Given the description of an element on the screen output the (x, y) to click on. 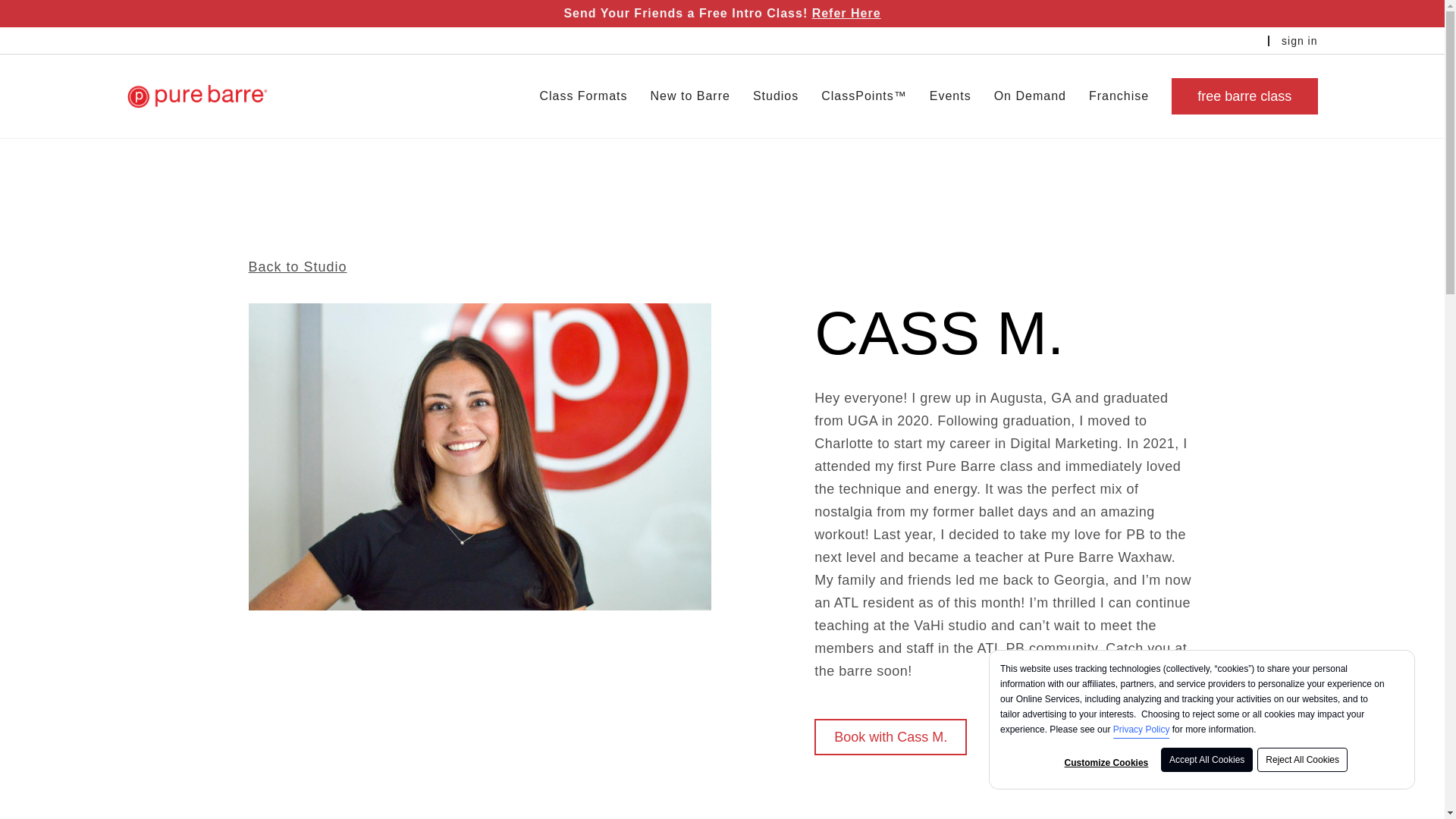
Events (950, 95)
Privacy Policy (1141, 729)
sign in (1299, 40)
On Demand (1029, 95)
Franchise (1118, 95)
Book with Cass M. (889, 737)
Class Formats (582, 95)
New to Barre (690, 95)
Back to Studio (297, 266)
free barre class (1244, 95)
Refer Here (846, 12)
Studios (774, 95)
